Given the description of an element on the screen output the (x, y) to click on. 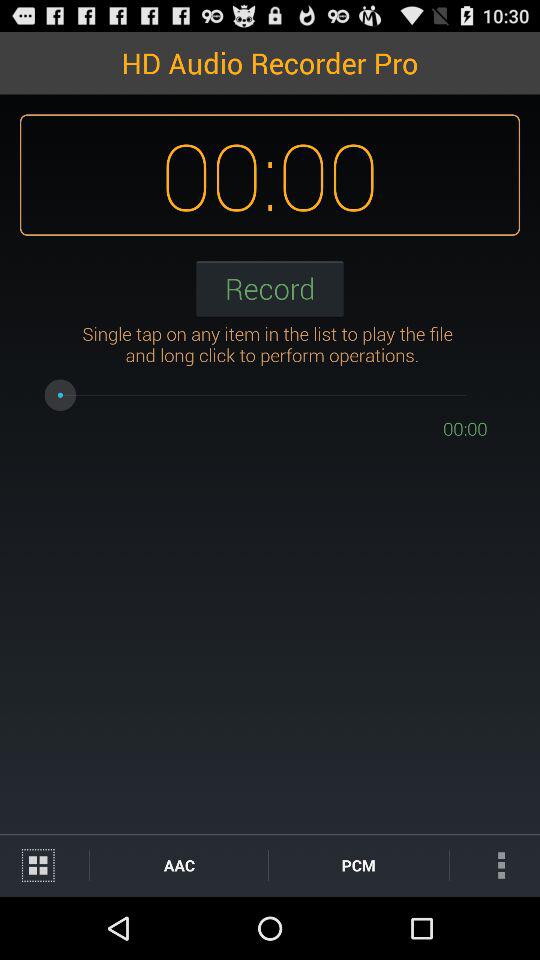
swipe until pcm (358, 864)
